Given the description of an element on the screen output the (x, y) to click on. 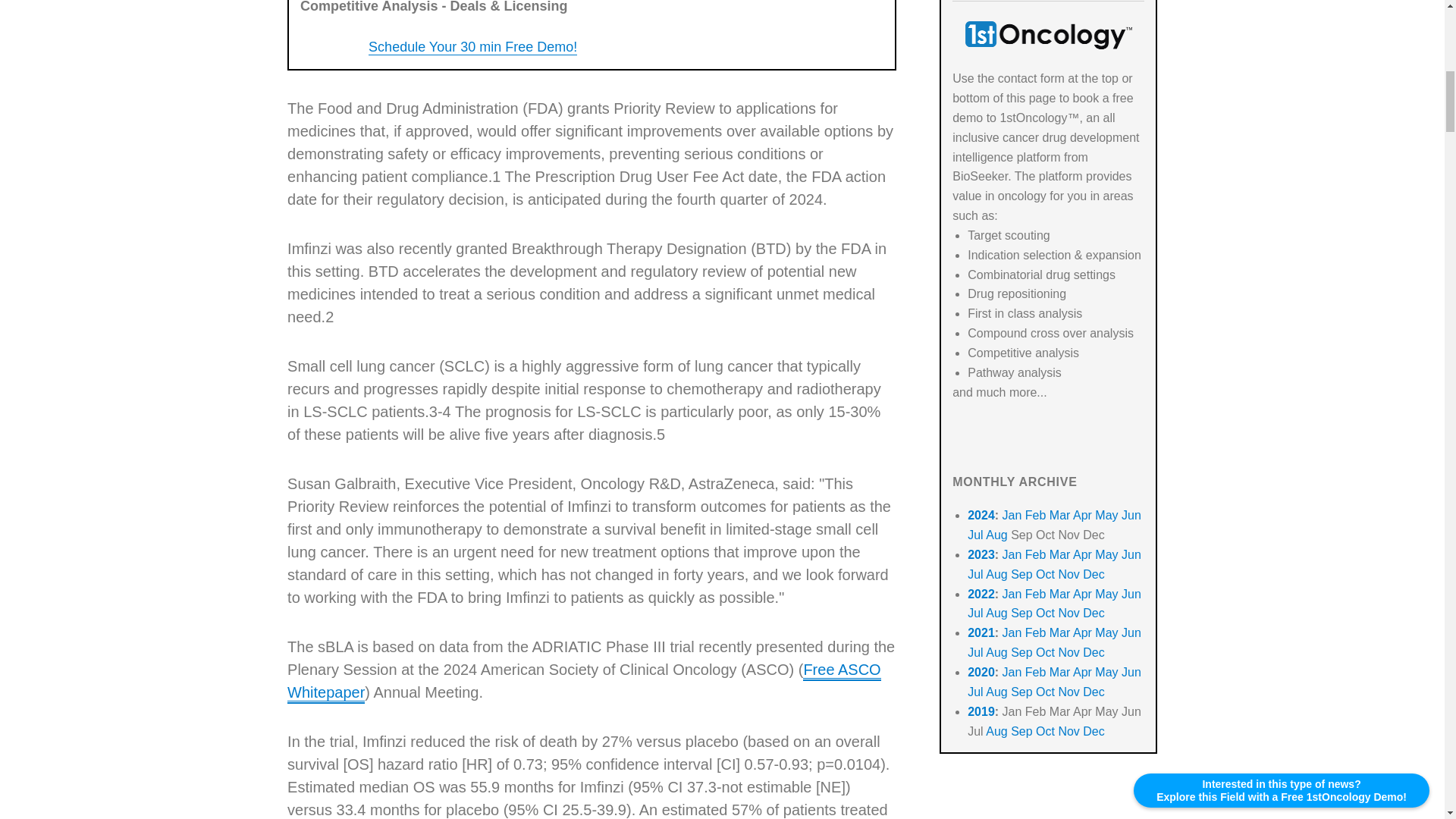
Access Free ASCO Whitepapers (583, 681)
January 2024 (1012, 514)
Schedule Your 30 min Free Demo! (472, 46)
Free ASCO Whitepaper (583, 681)
February 2024 (1035, 514)
